Given the description of an element on the screen output the (x, y) to click on. 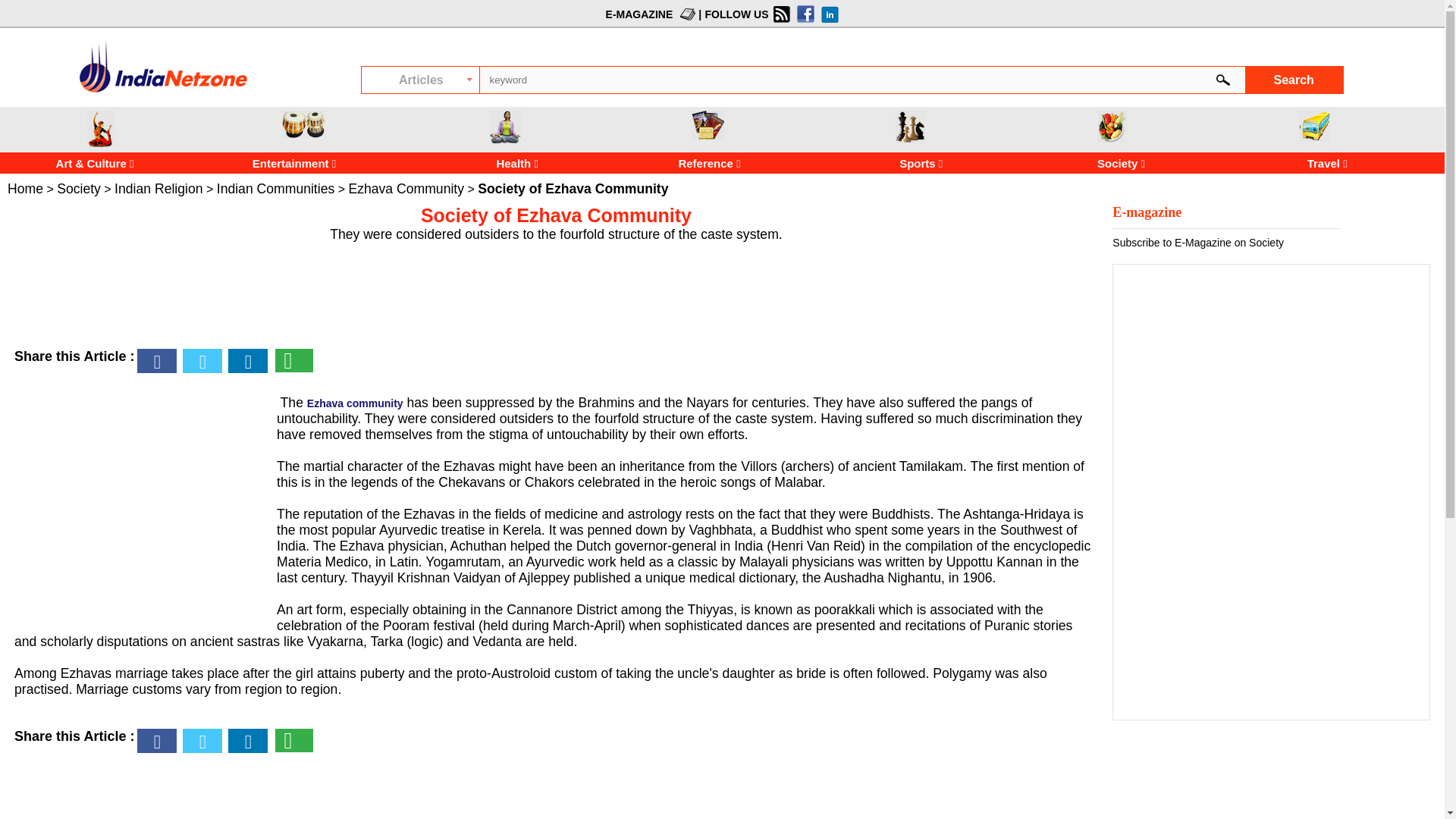
Society (1111, 126)
Search (1293, 79)
Entertainment (273, 163)
Reference (707, 124)
Indian Communities (275, 188)
Follow on Facebook (803, 13)
Sports (909, 126)
Reference (711, 163)
Search (1293, 79)
Ezhava Community (405, 188)
